Given the description of an element on the screen output the (x, y) to click on. 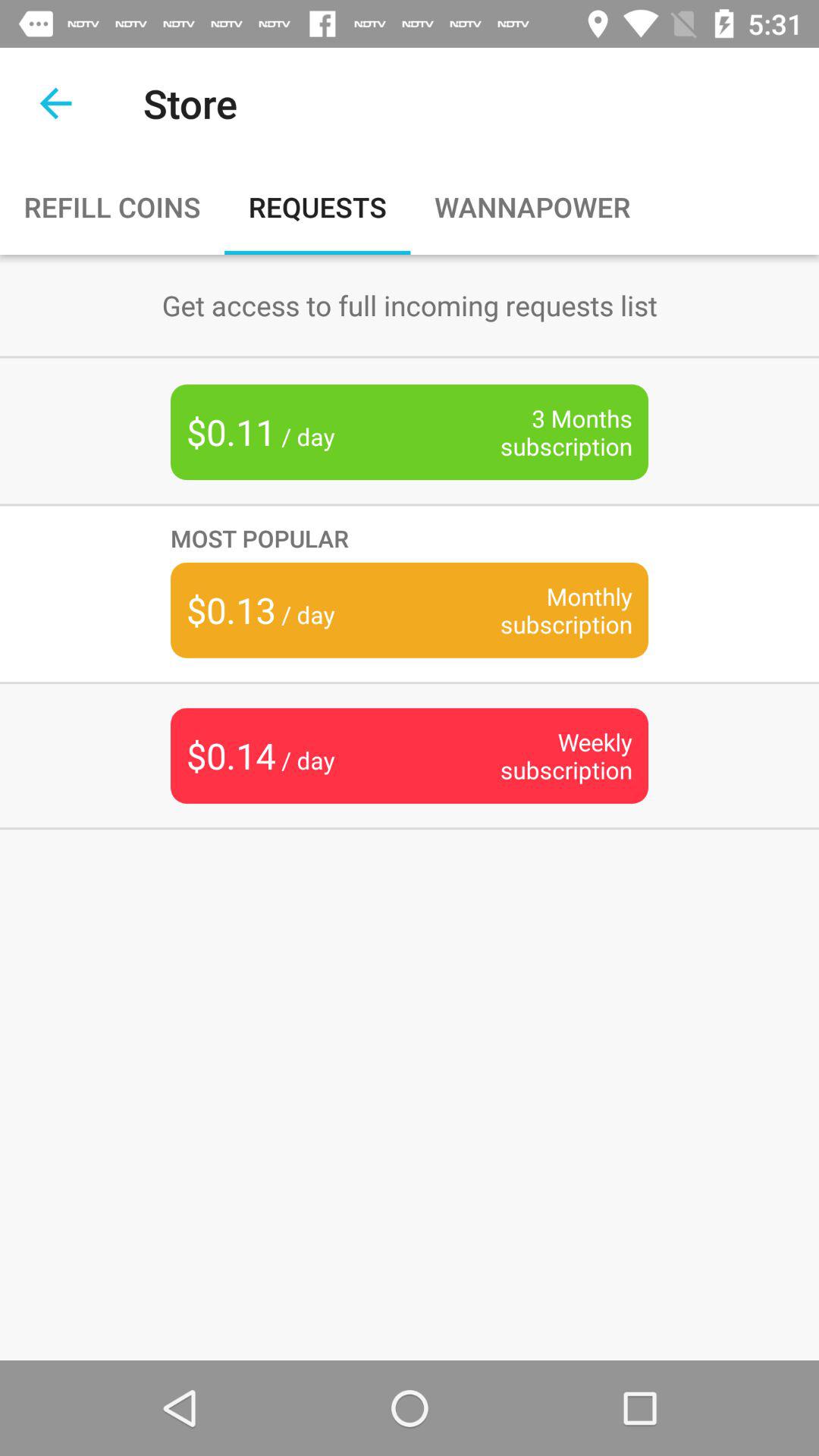
turn off the item next to the $0.14 / day (543, 755)
